Given the description of an element on the screen output the (x, y) to click on. 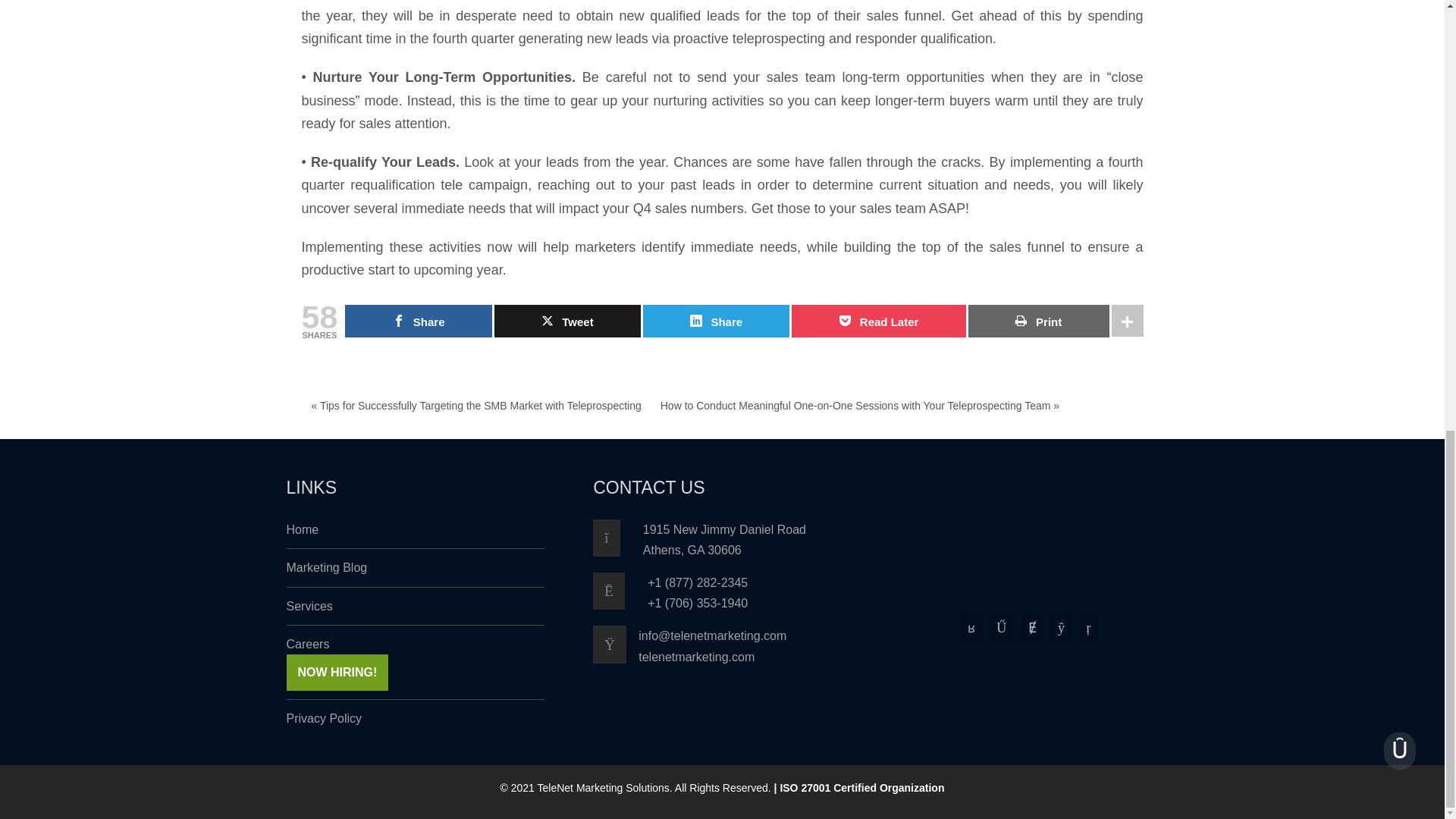
TeleNet on the map. (617, 537)
Call TeleNet (619, 590)
